Given the description of an element on the screen output the (x, y) to click on. 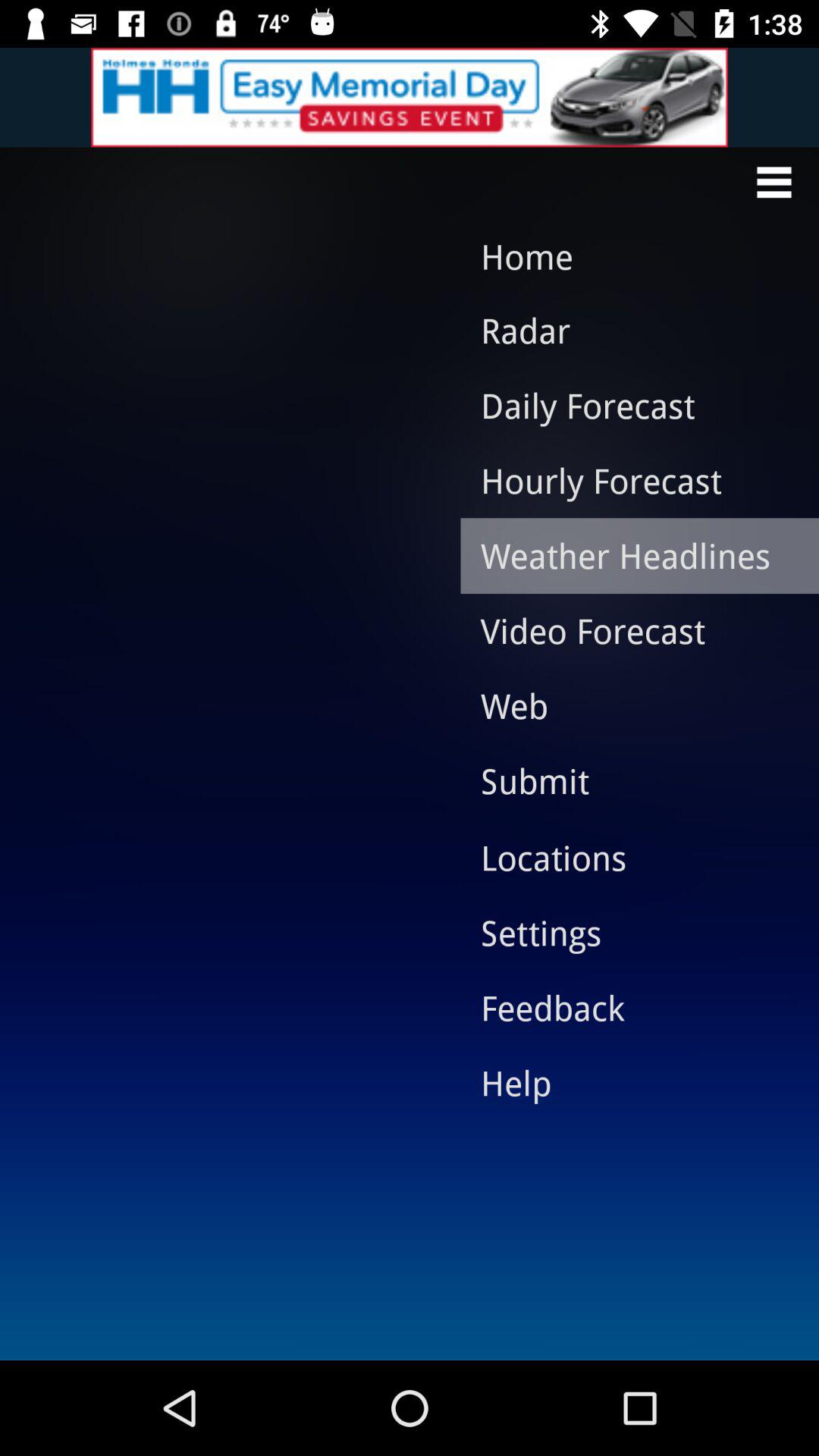
launch the item below the hourly forecast (627, 555)
